Given the description of an element on the screen output the (x, y) to click on. 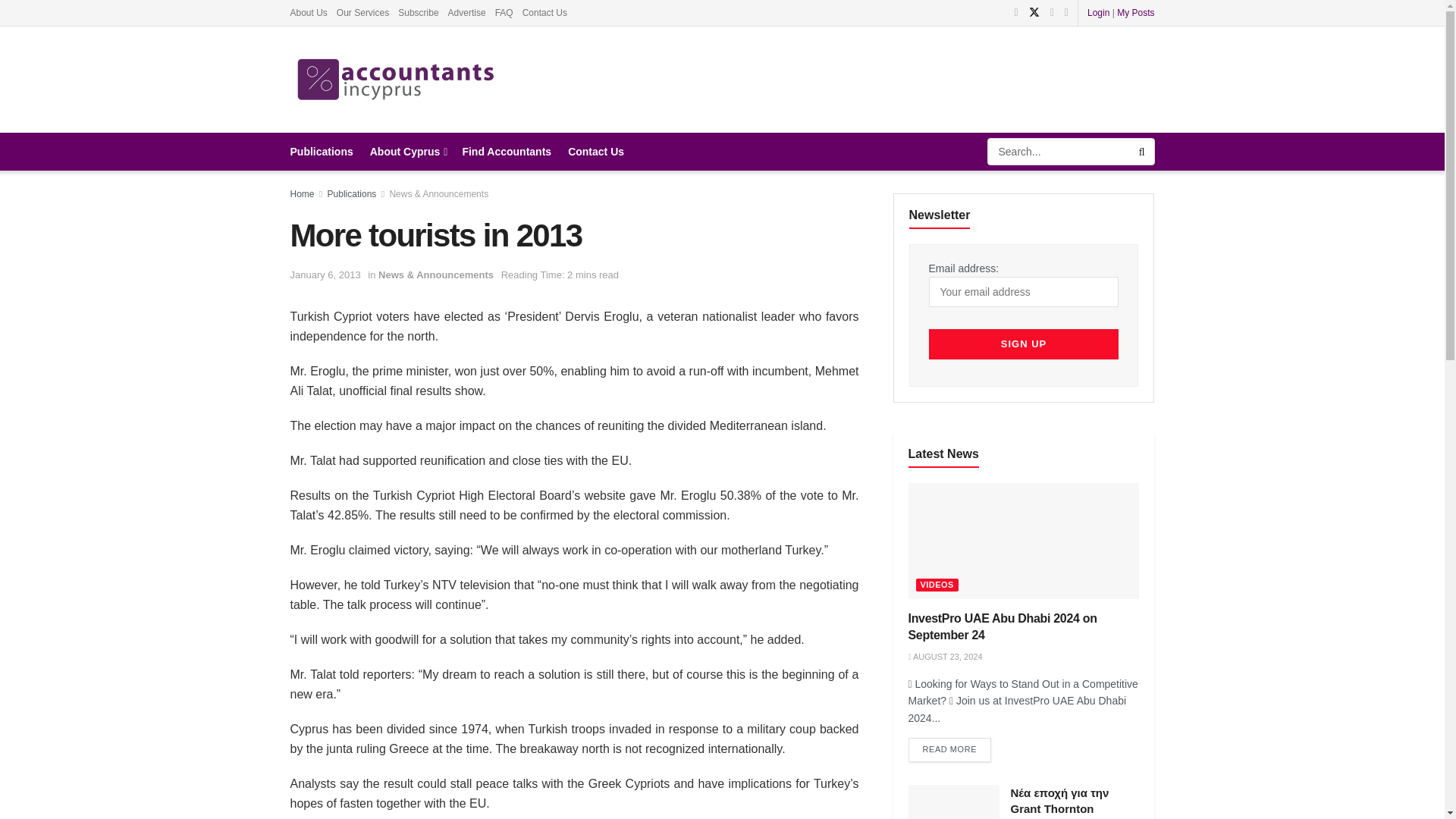
About Us (307, 12)
Sign up (1023, 344)
Find Accountants (506, 151)
Advertise (467, 12)
Publications (320, 151)
Contact Us (544, 12)
About Cyprus (407, 151)
Login (1098, 12)
My Posts (1135, 12)
Contact Us (595, 151)
